Given the description of an element on the screen output the (x, y) to click on. 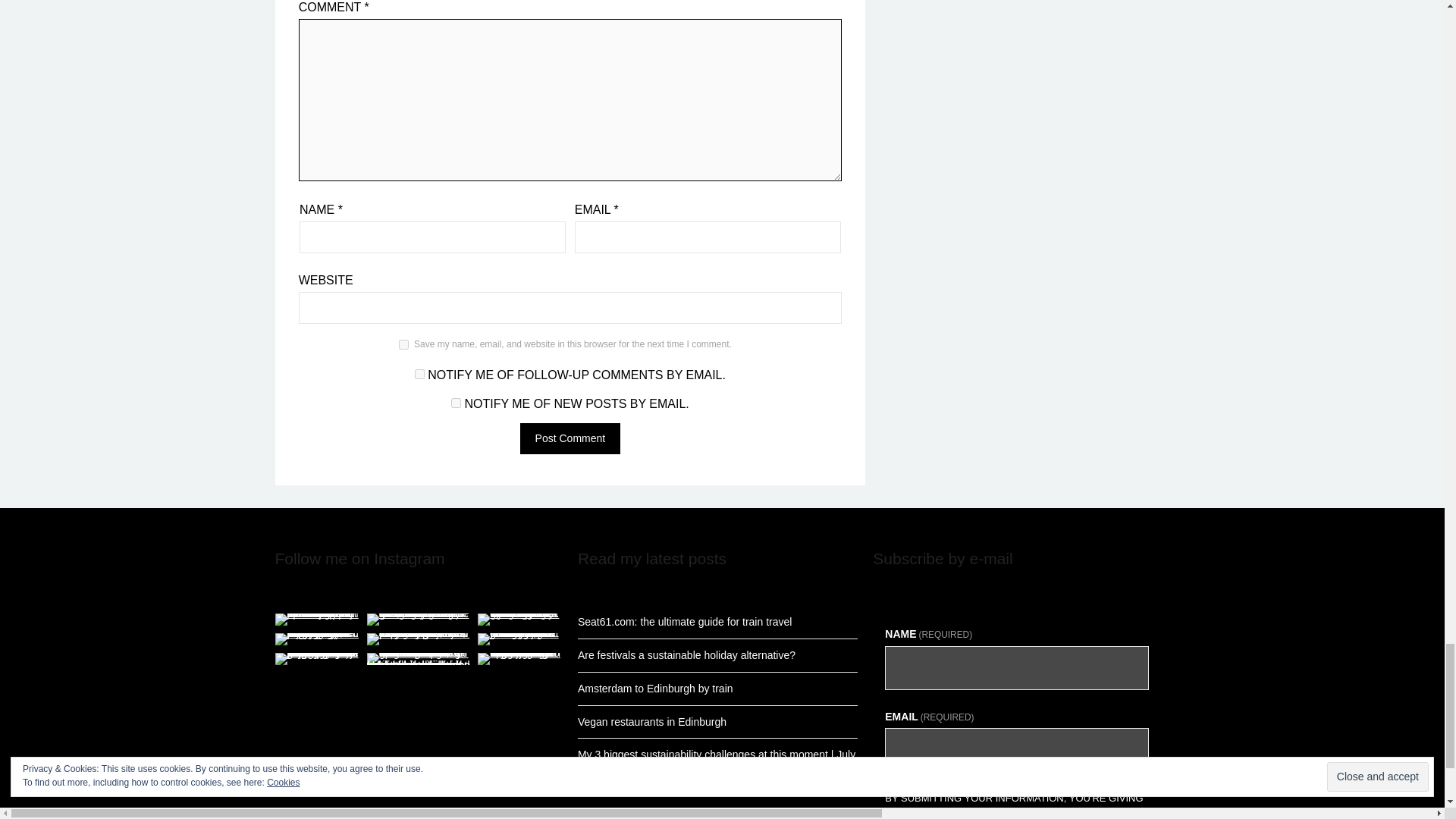
subscribe (456, 402)
Post Comment (570, 438)
yes (403, 344)
subscribe (419, 374)
Post Comment (570, 438)
